Given the description of an element on the screen output the (x, y) to click on. 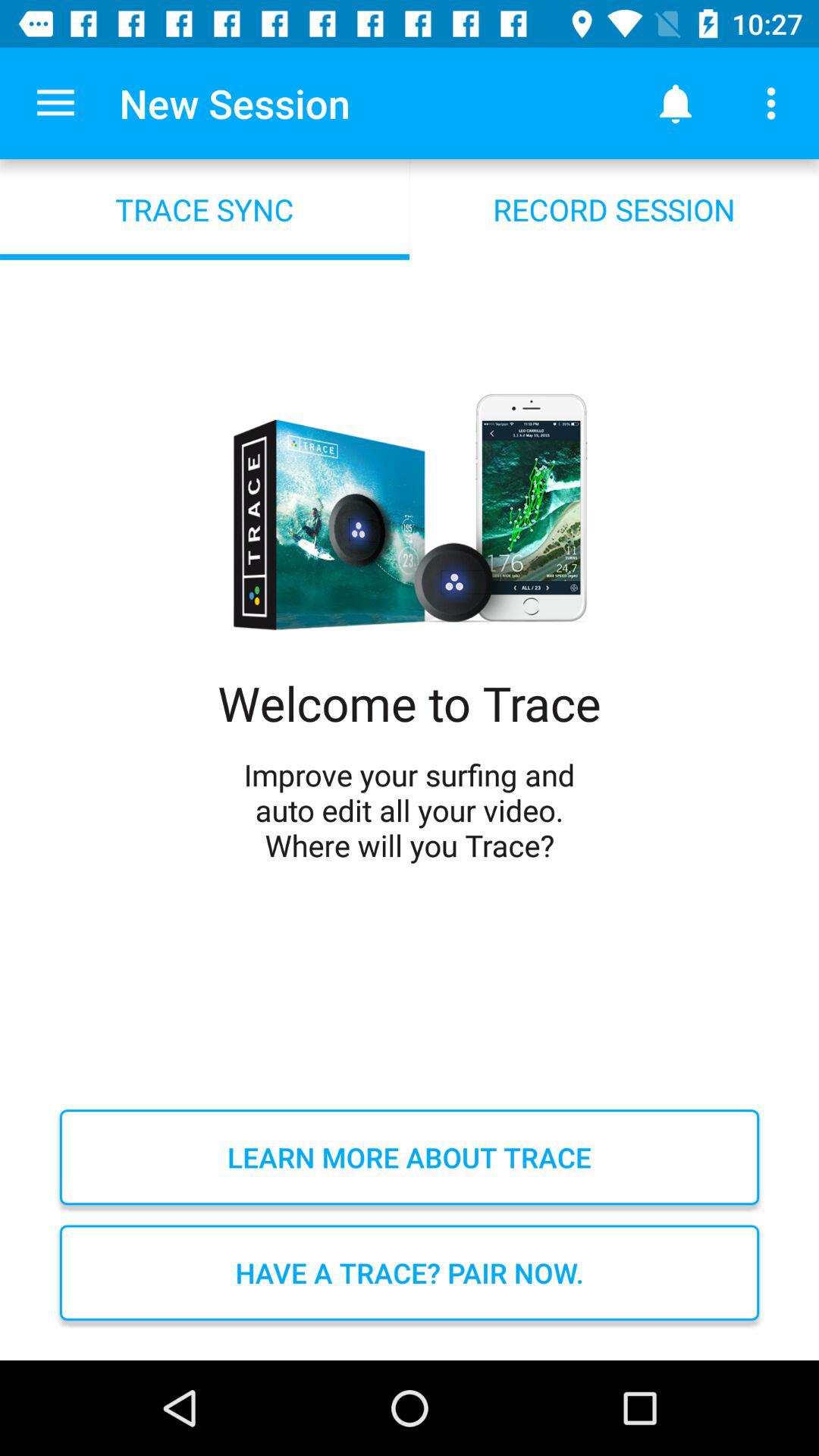
swipe to the learn more about icon (409, 1157)
